Given the description of an element on the screen output the (x, y) to click on. 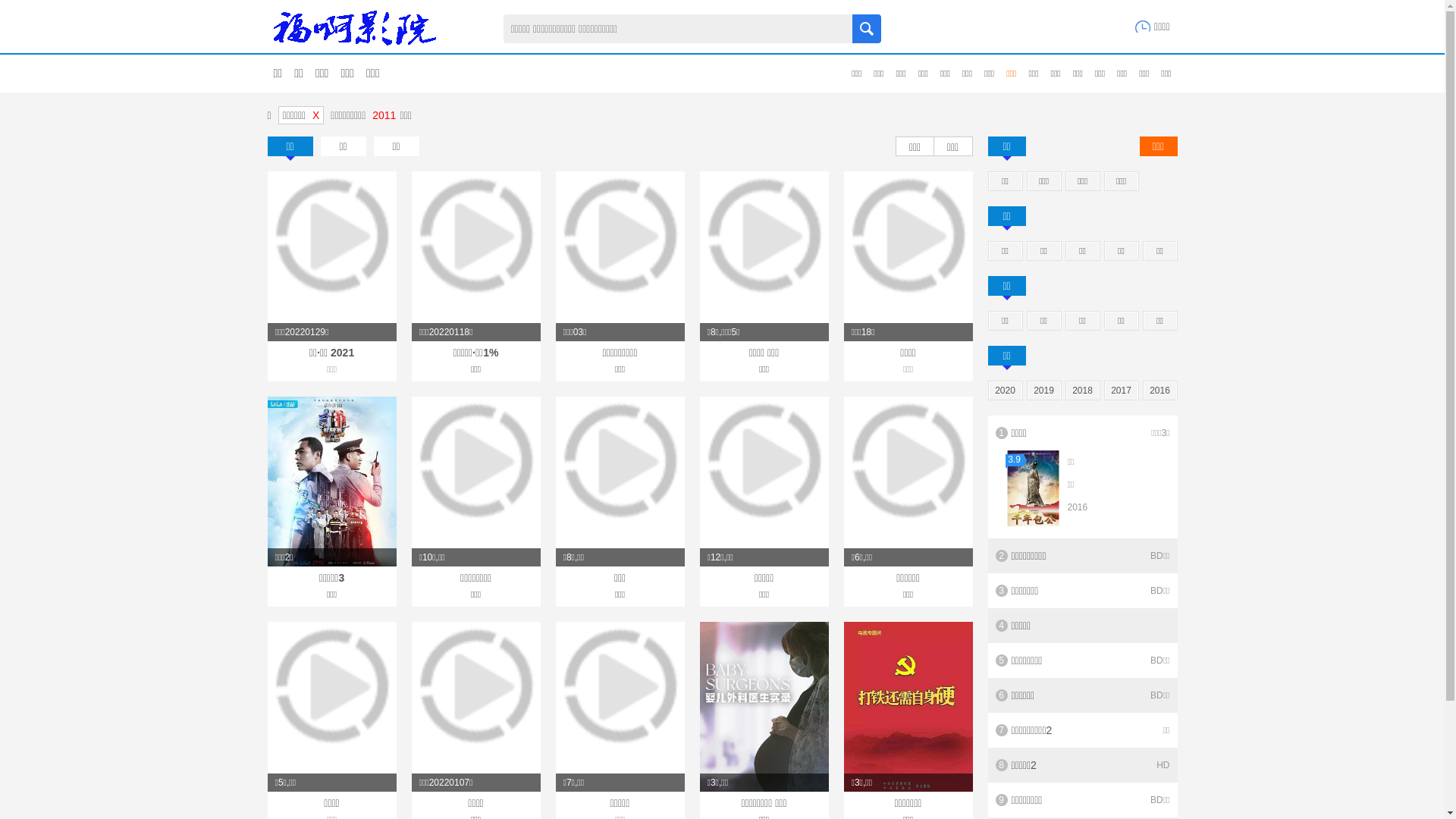
2018 Element type: text (1082, 390)
2017 Element type: text (1120, 390)
2019 Element type: text (1043, 390)
2020 Element type: text (1005, 390)
2016 Element type: text (1159, 390)
